Given the description of an element on the screen output the (x, y) to click on. 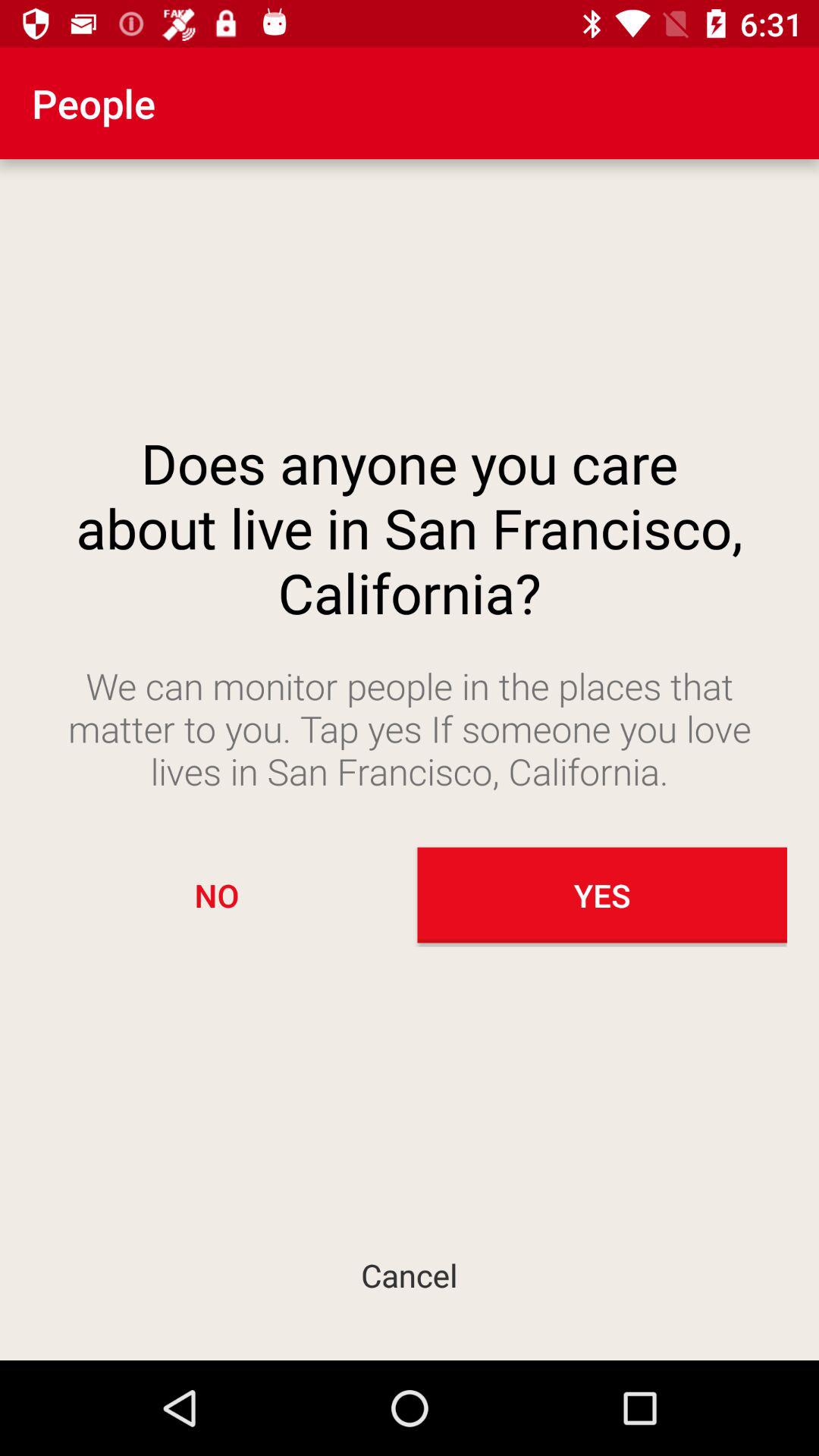
select cancel (409, 1274)
